Given the description of an element on the screen output the (x, y) to click on. 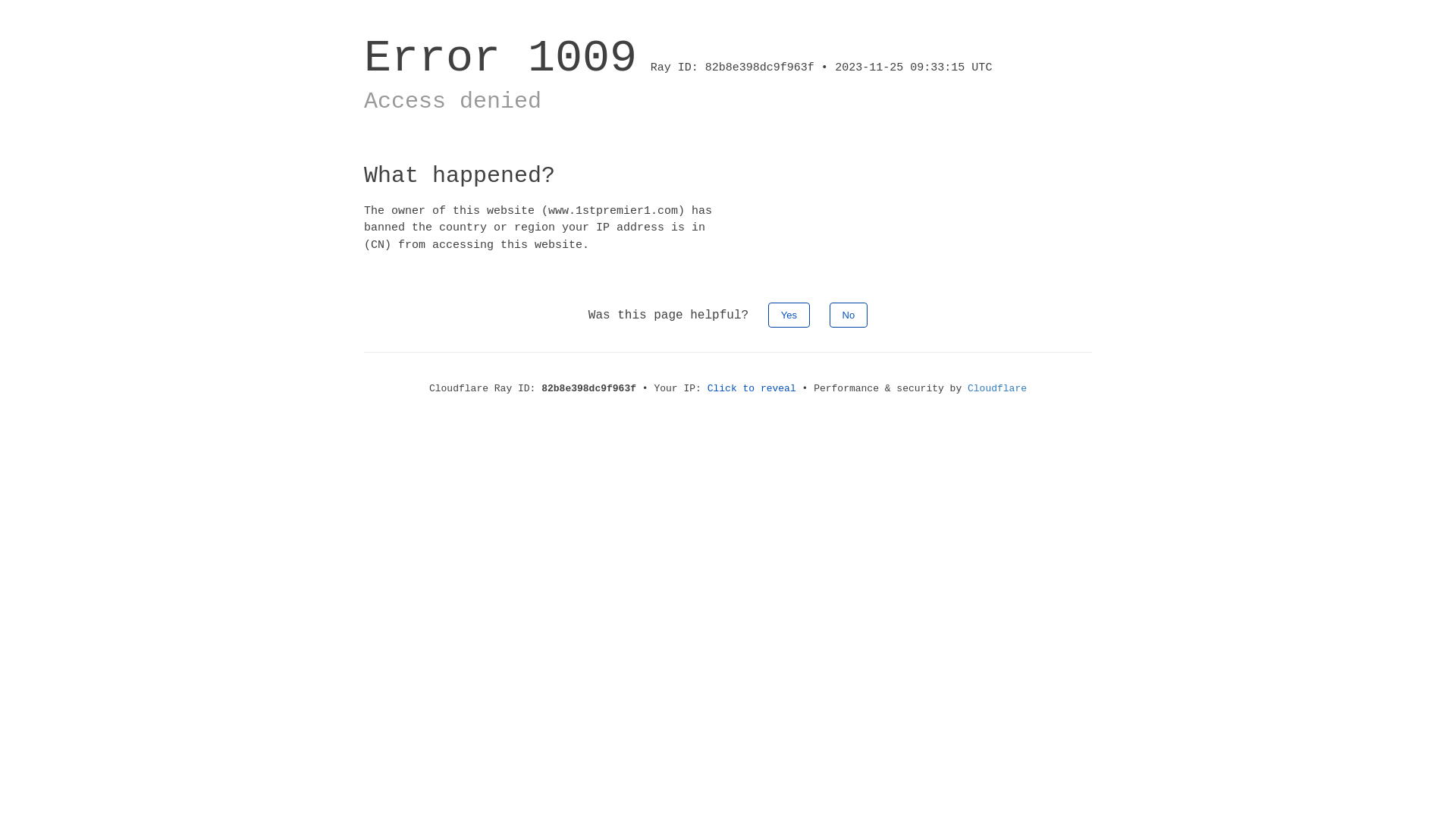
Click to reveal Element type: text (751, 388)
Yes Element type: text (788, 314)
No Element type: text (848, 314)
Cloudflare Element type: text (996, 388)
